Given the description of an element on the screen output the (x, y) to click on. 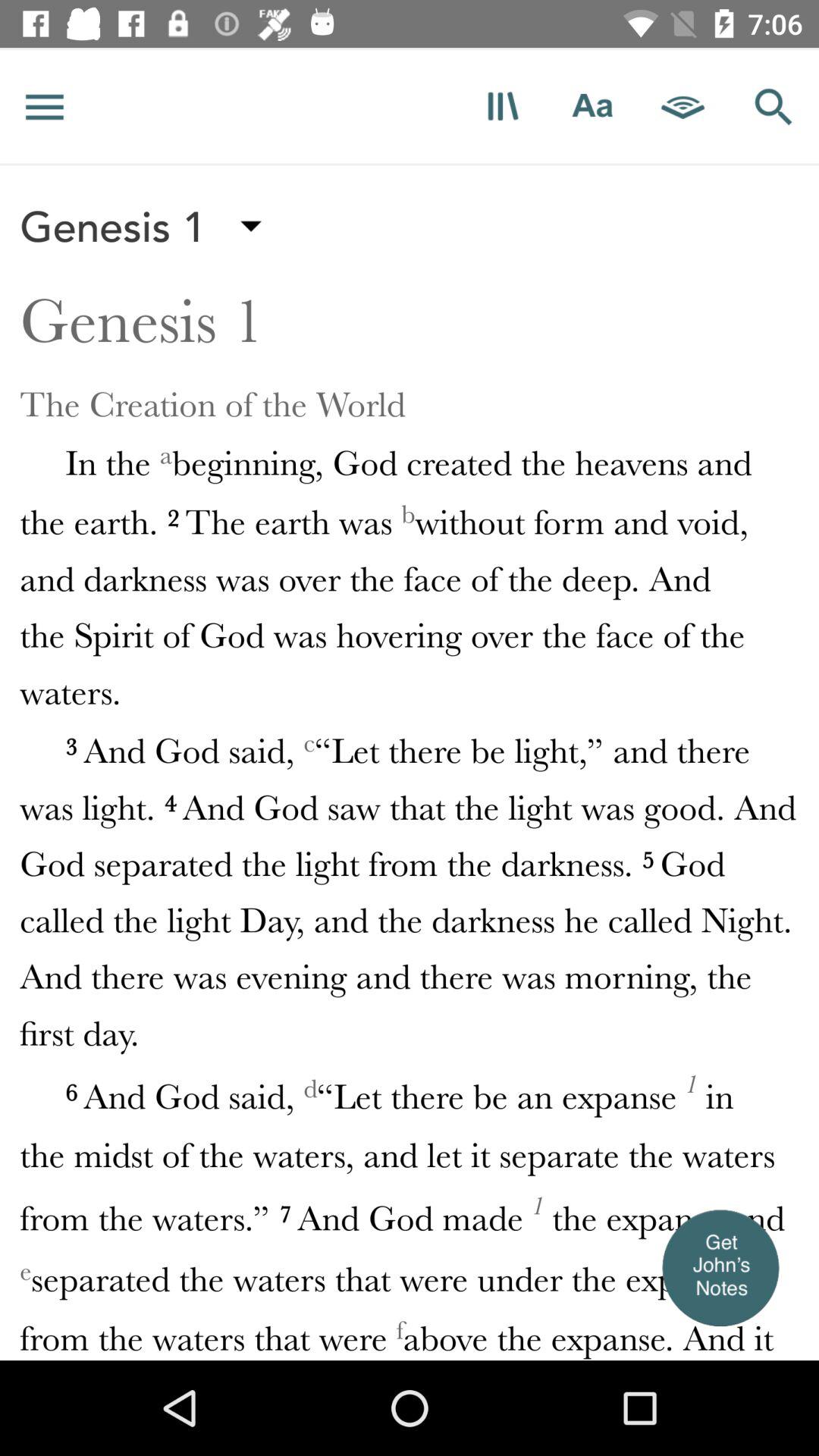
go to textalignment (592, 106)
